Given the description of an element on the screen output the (x, y) to click on. 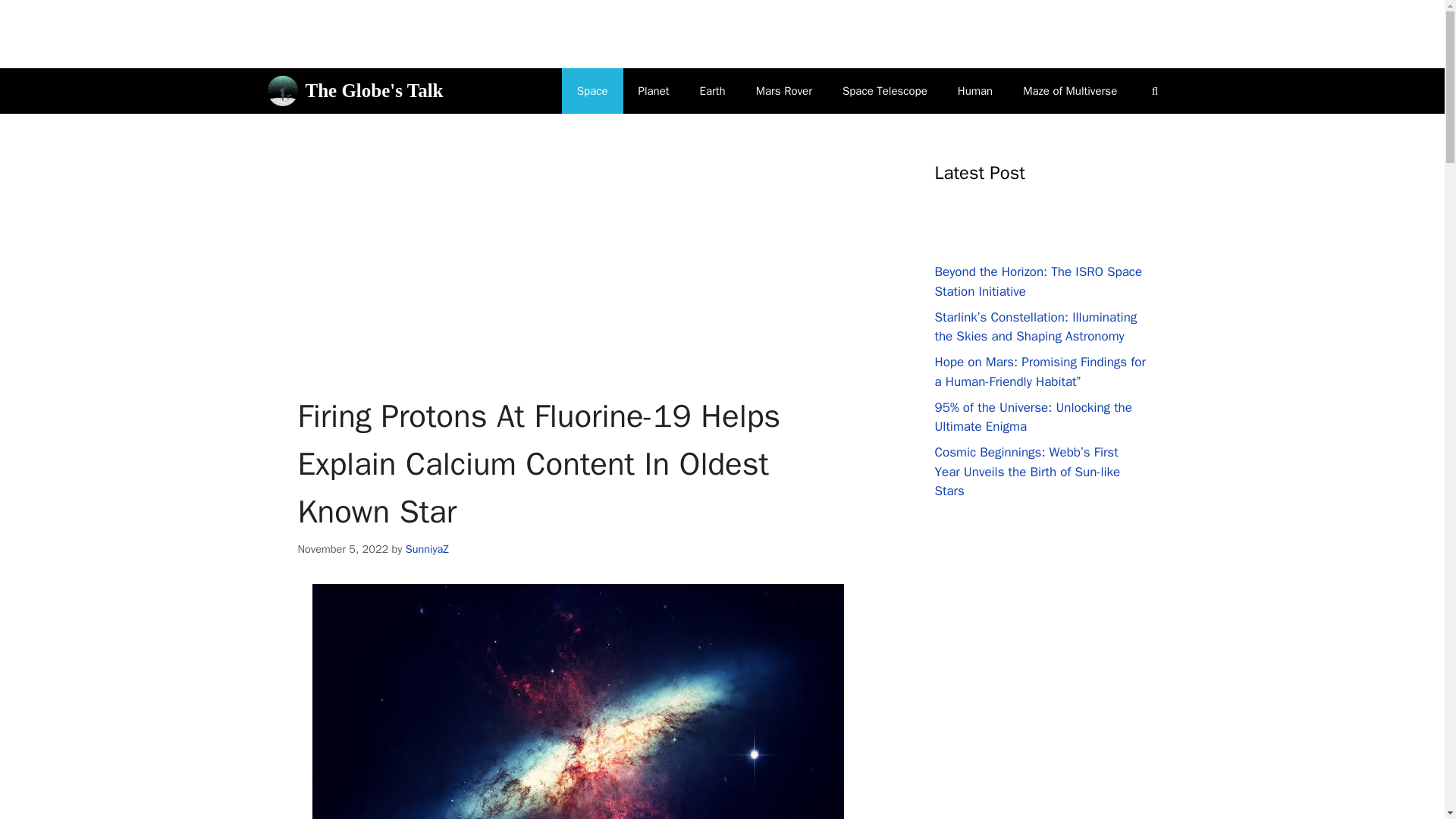
Maze of Multiverse (1069, 90)
The Globe's Talk (373, 90)
The Globe's Talk (281, 90)
Mars Rover (784, 90)
SunniyaZ (427, 549)
Space (592, 90)
Earth (712, 90)
View all posts by SunniyaZ (427, 549)
Planet (653, 90)
Beyond the Horizon: The ISRO Space Station Initiative (1037, 281)
Space Telescope (884, 90)
Human (974, 90)
